Given the description of an element on the screen output the (x, y) to click on. 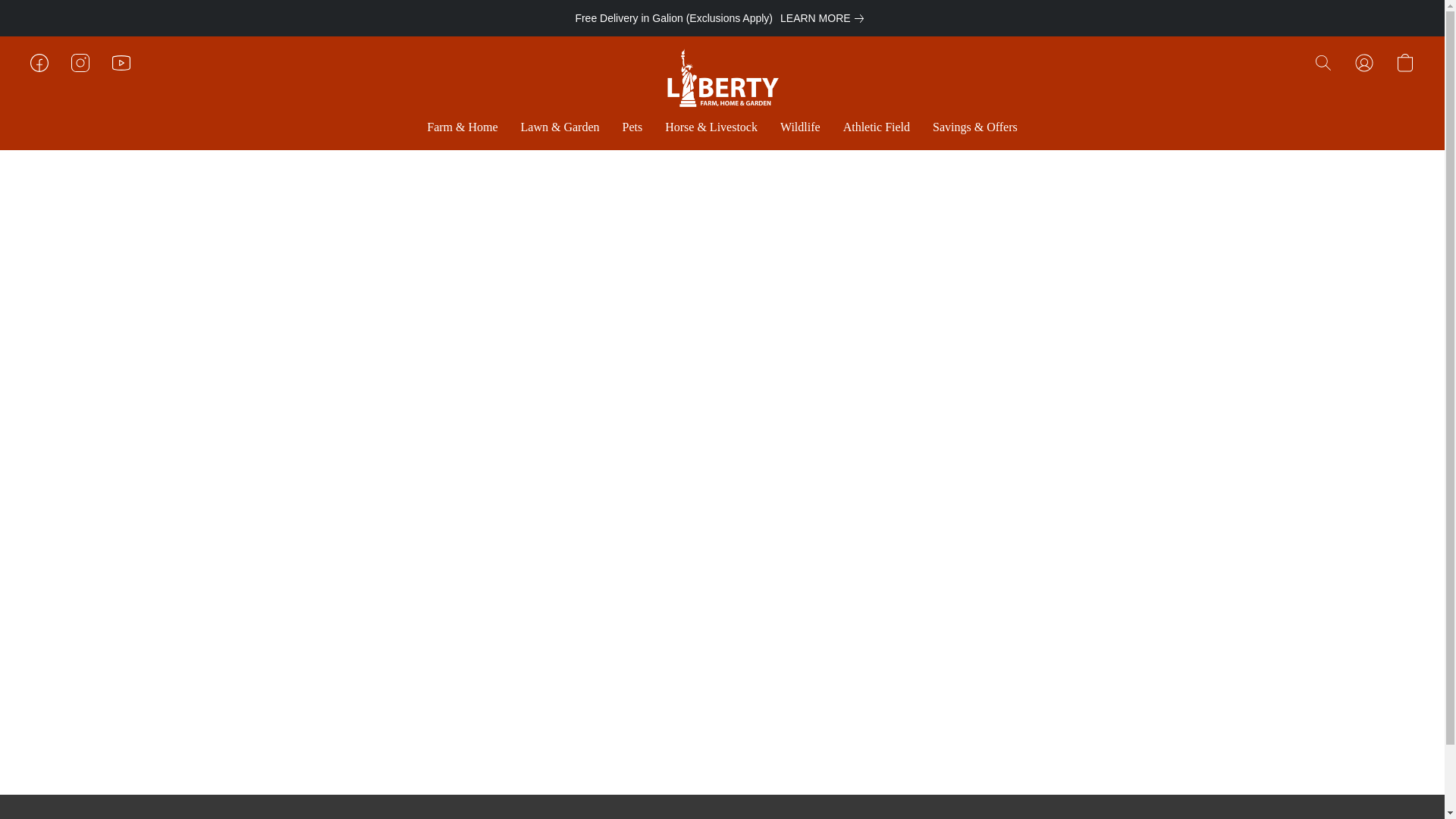
Pets (632, 127)
Go to your shopping cart (1404, 62)
LEARN MORE (824, 18)
Athletic Field (876, 127)
Wildlife (799, 127)
Search the website (1323, 62)
